Given the description of an element on the screen output the (x, y) to click on. 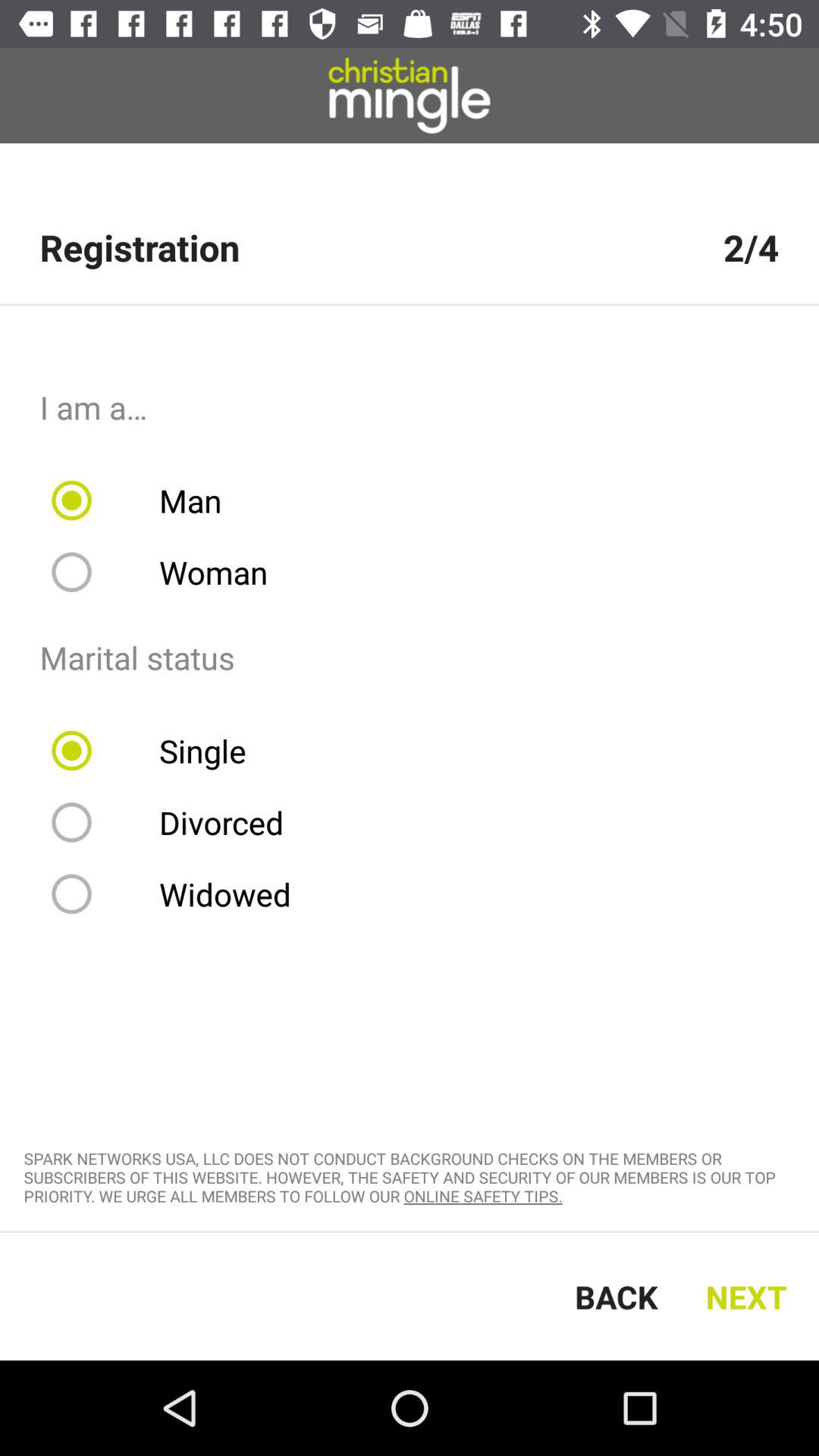
jump to next item (750, 1296)
